Given the description of an element on the screen output the (x, y) to click on. 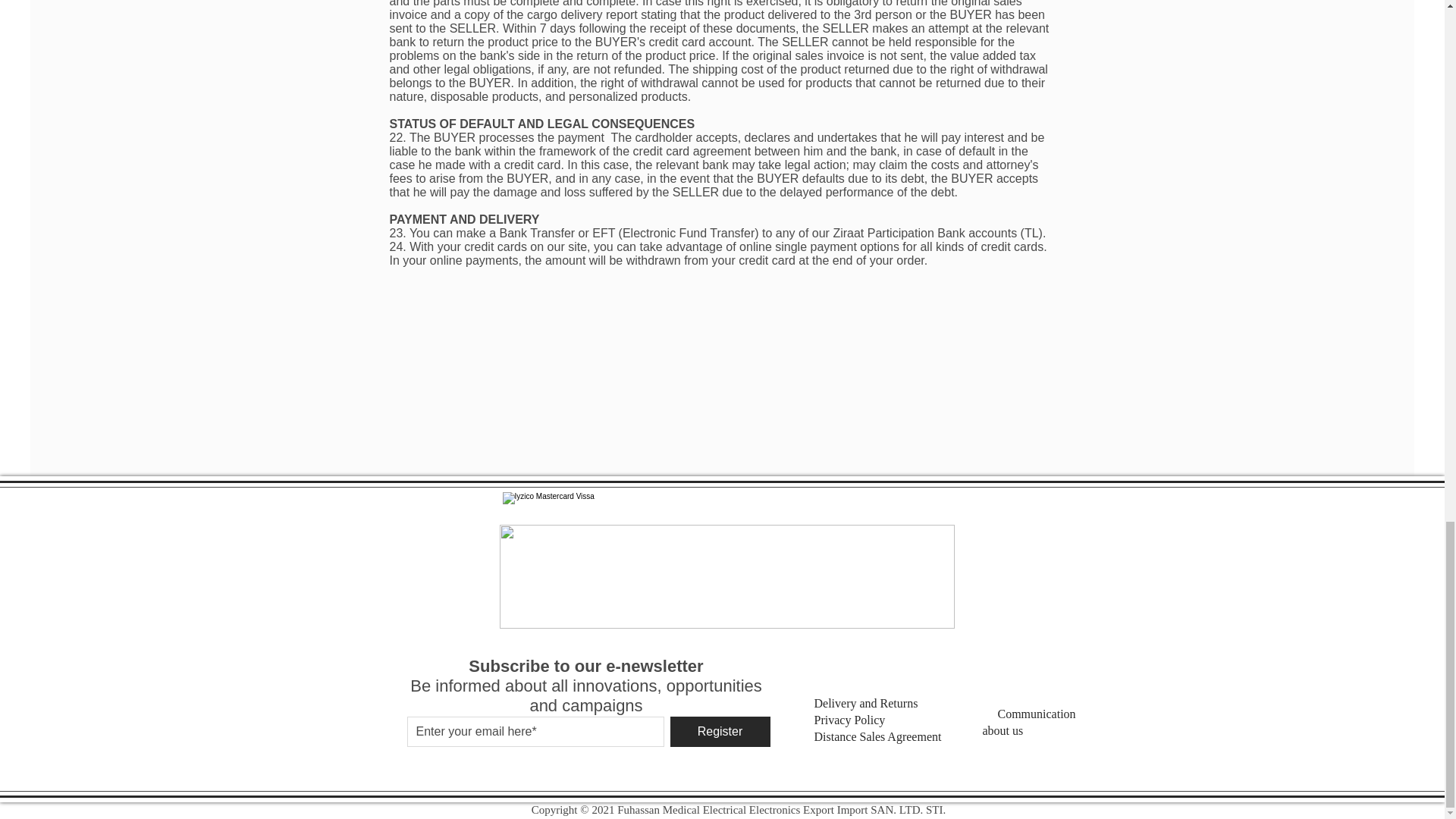
Distance Sales Agreement (881, 736)
Register (719, 731)
Privacy Policy (859, 719)
banka-logolari.png (726, 576)
about us (1015, 730)
Communication (1036, 713)
Delivery and Returns (865, 703)
